Given the description of an element on the screen output the (x, y) to click on. 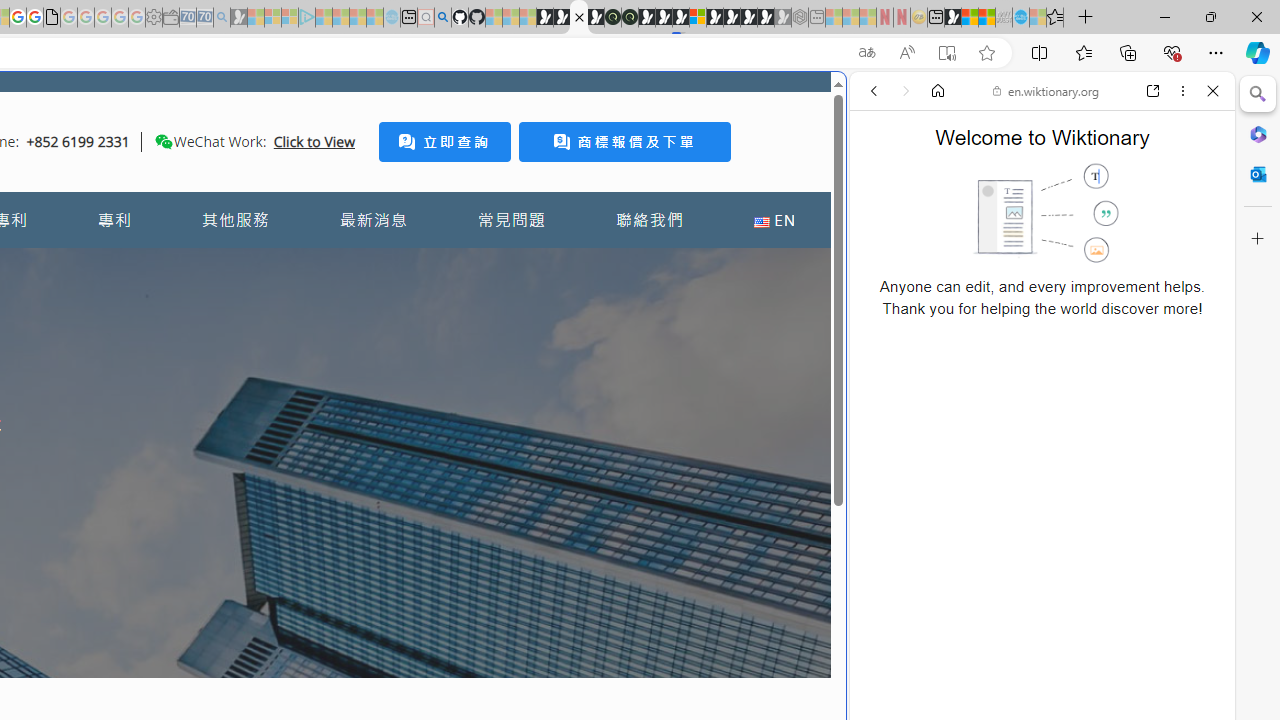
EN (774, 220)
IMAGES (939, 228)
VIDEOS (1006, 228)
Play Free Online Games | Games from Microsoft Start (731, 17)
Enter Immersive Reader (F9) (946, 53)
